Given the description of an element on the screen output the (x, y) to click on. 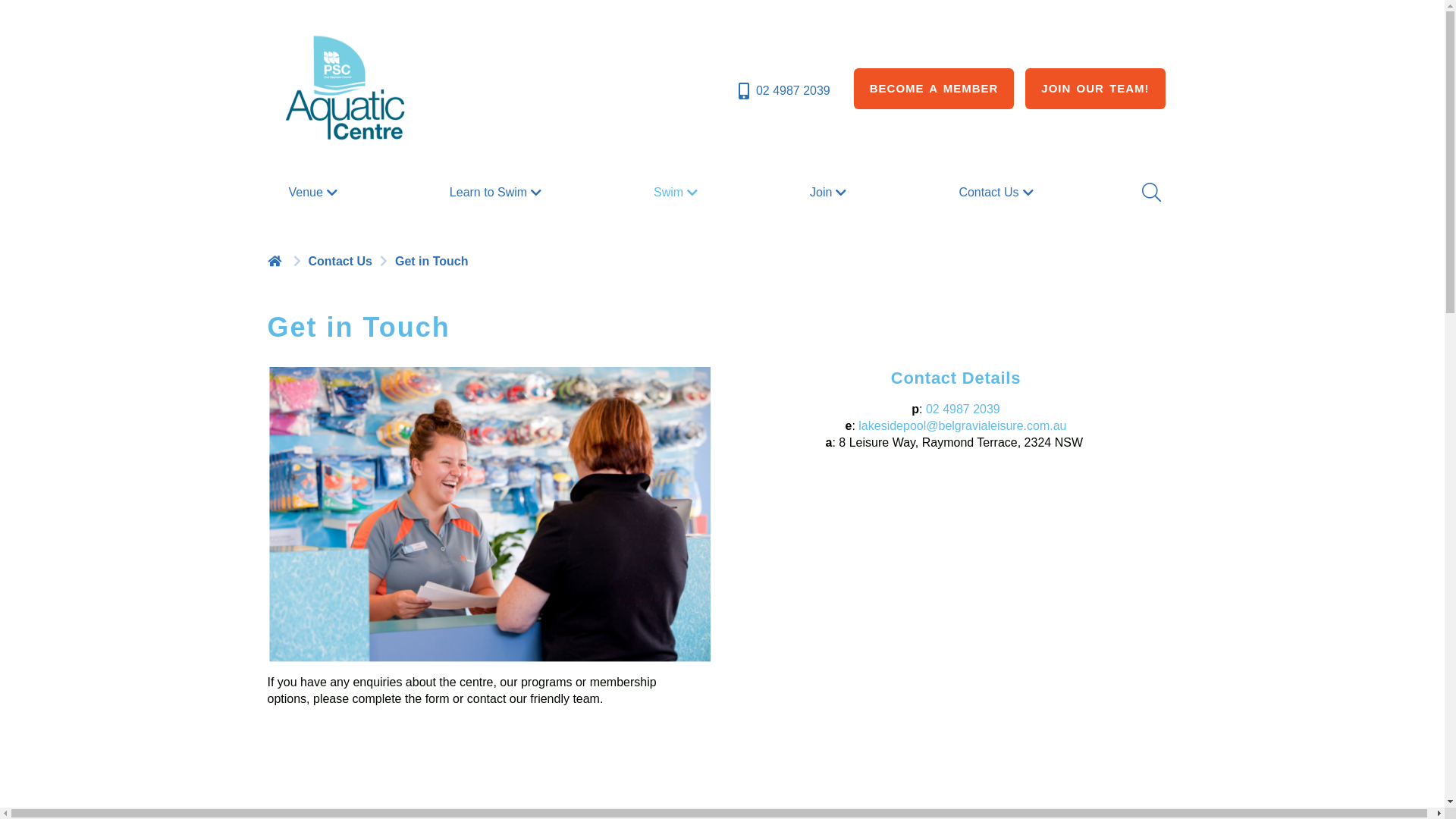
02 4987 2039 Element type: text (962, 408)
Join Element type: text (829, 192)
Venue Element type: text (314, 192)
Untitled-design-(23).png Element type: hover (487, 514)
lakesidepool@belgravialeisure.com.au Element type: text (962, 425)
Contact Us Element type: text (997, 192)
BECOME A MEMBER Element type: text (933, 88)
Search Element type: text (1150, 192)
02 4987 2039 Element type: text (782, 90)
Learn to Swim Element type: text (497, 192)
JOIN OUR TEAM! Element type: text (1094, 88)
  Element type: text (275, 260)
Swim Element type: text (677, 192)
